Given the description of an element on the screen output the (x, y) to click on. 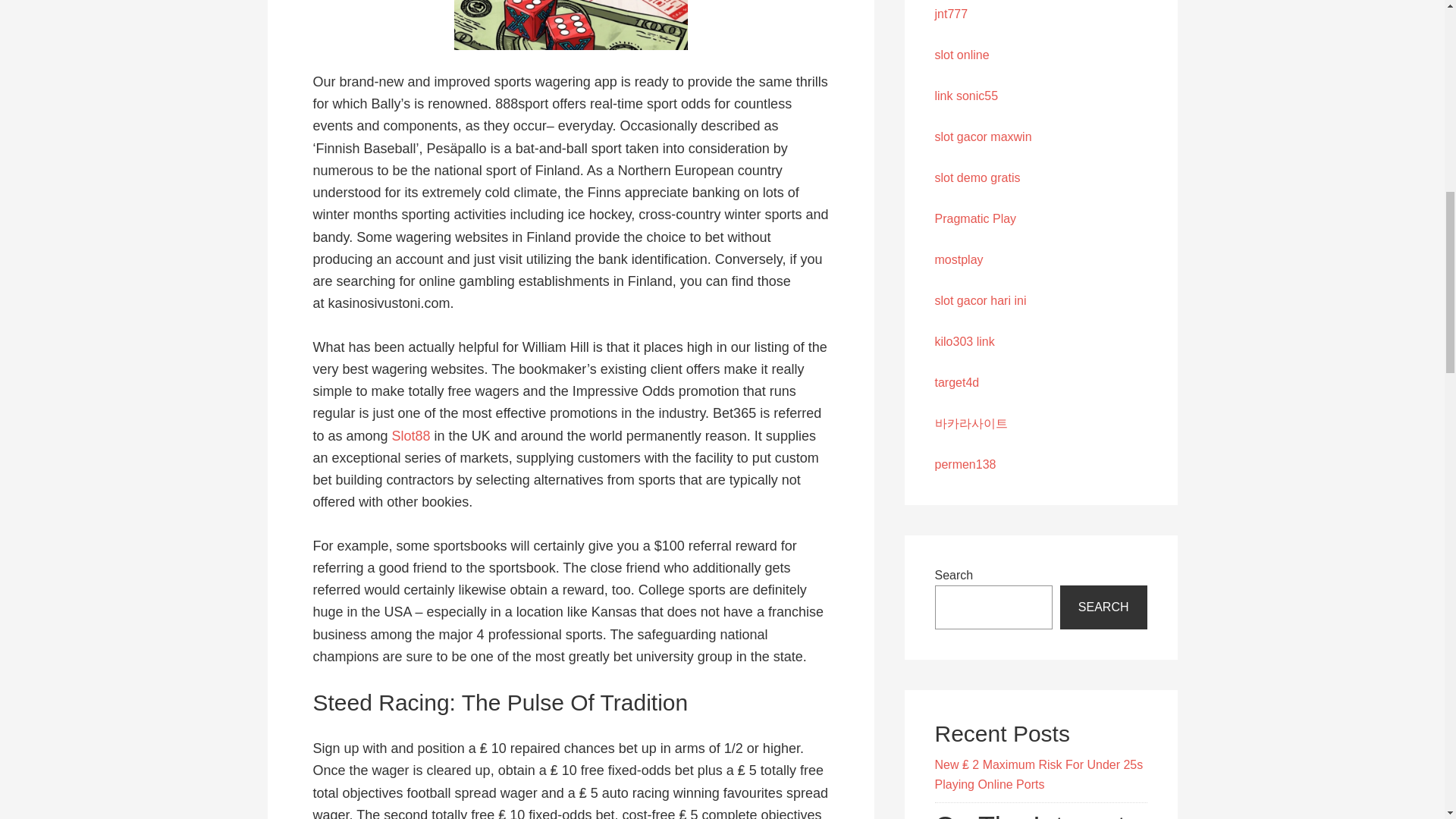
kilo303 link (964, 341)
Slot88 (410, 435)
slot gacor maxwin (982, 136)
jnt777 (951, 13)
slot demo gratis (977, 177)
ink sonic55 (967, 95)
mostplay (958, 259)
Pragmatic Play (975, 218)
slot online (961, 54)
slot gacor hari ini (980, 300)
